Given the description of an element on the screen output the (x, y) to click on. 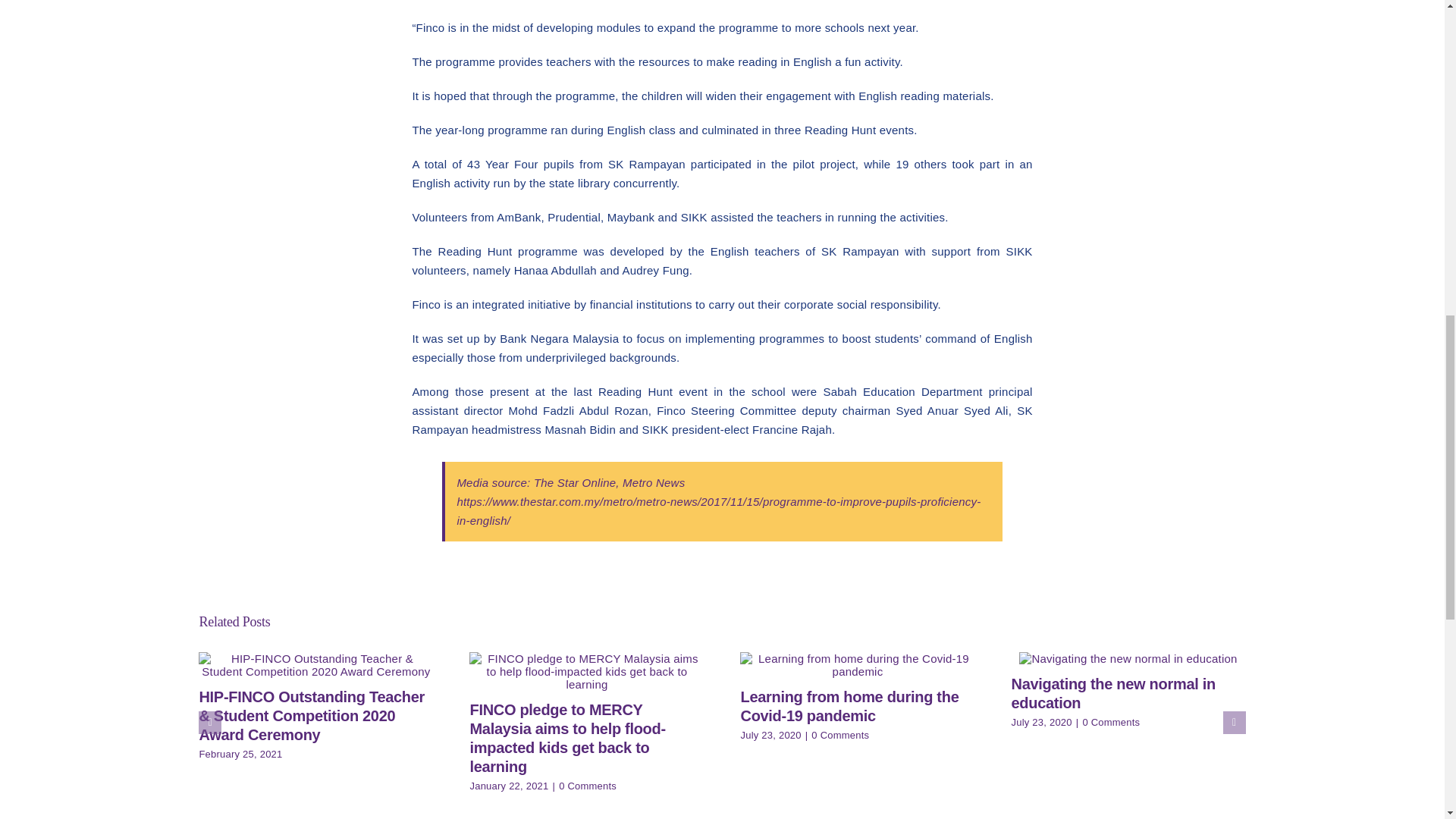
Learning from home during the Covid-19 pandemic (848, 705)
Navigating the new normal in education (1113, 693)
